Given the description of an element on the screen output the (x, y) to click on. 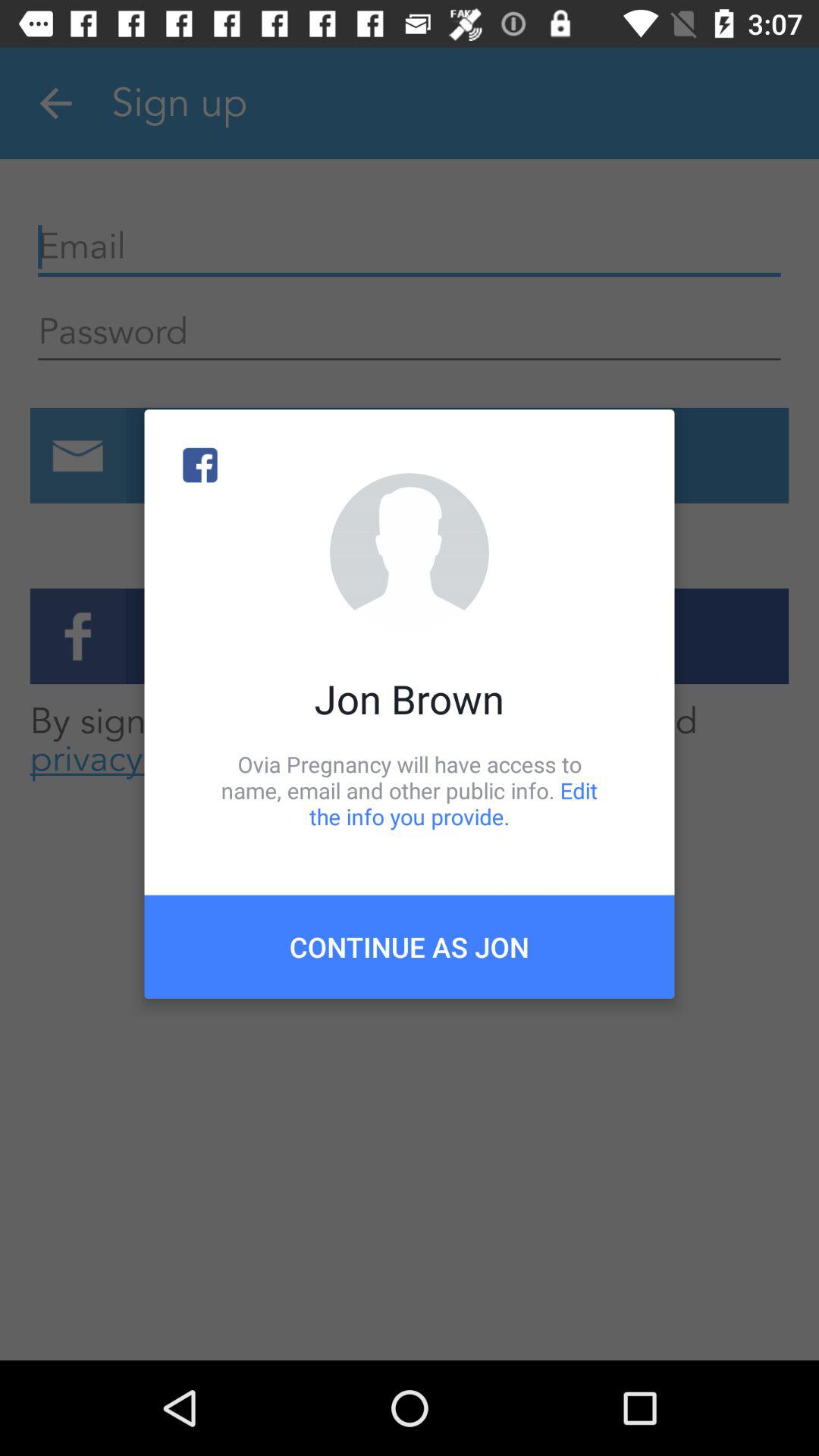
choose the continue as jon icon (409, 946)
